Given the description of an element on the screen output the (x, y) to click on. 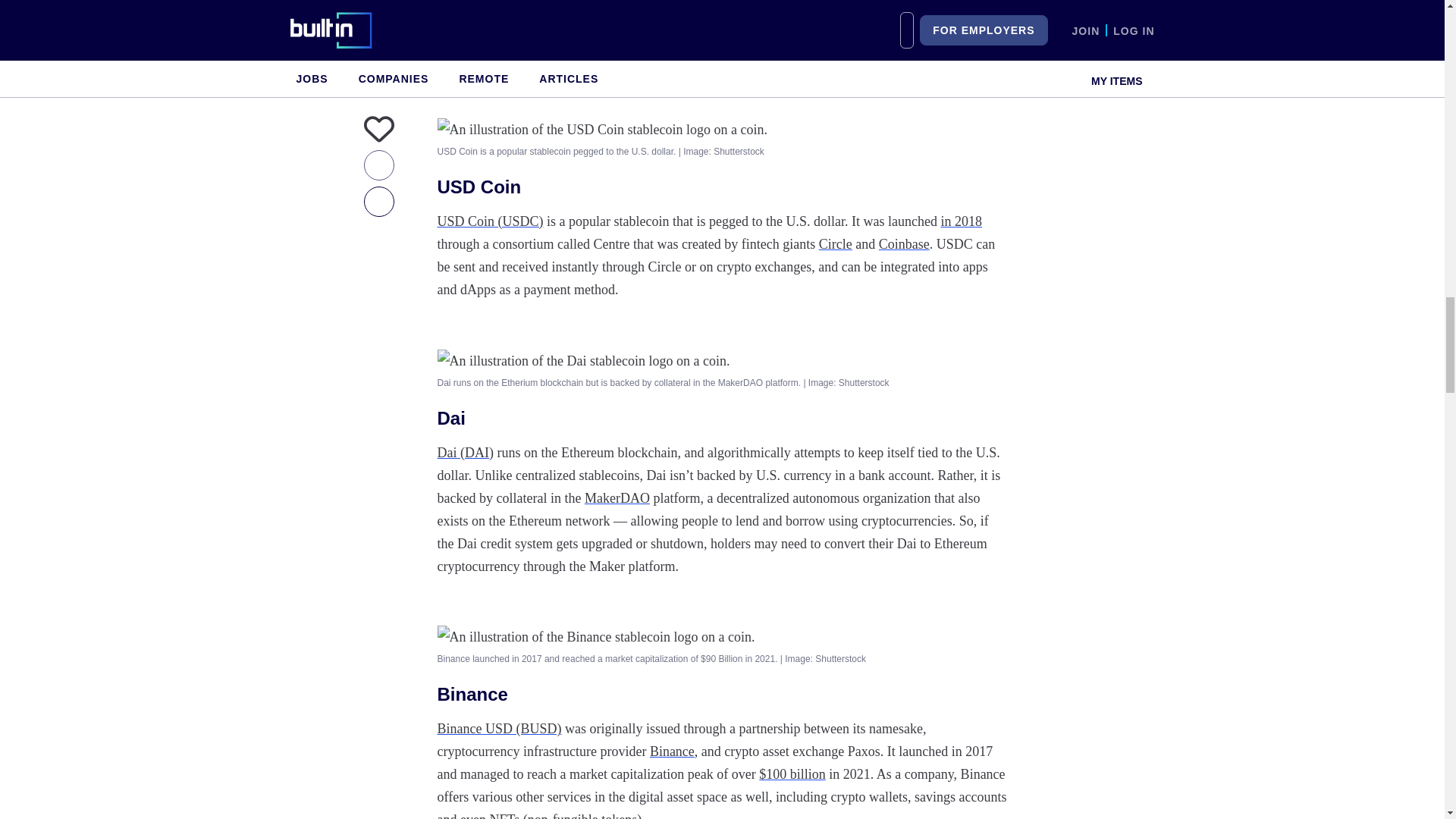
Coinbase (904, 243)
MakerDAO (617, 498)
in 2018 (960, 221)
Binance (671, 751)
Circle (834, 243)
